Given the description of an element on the screen output the (x, y) to click on. 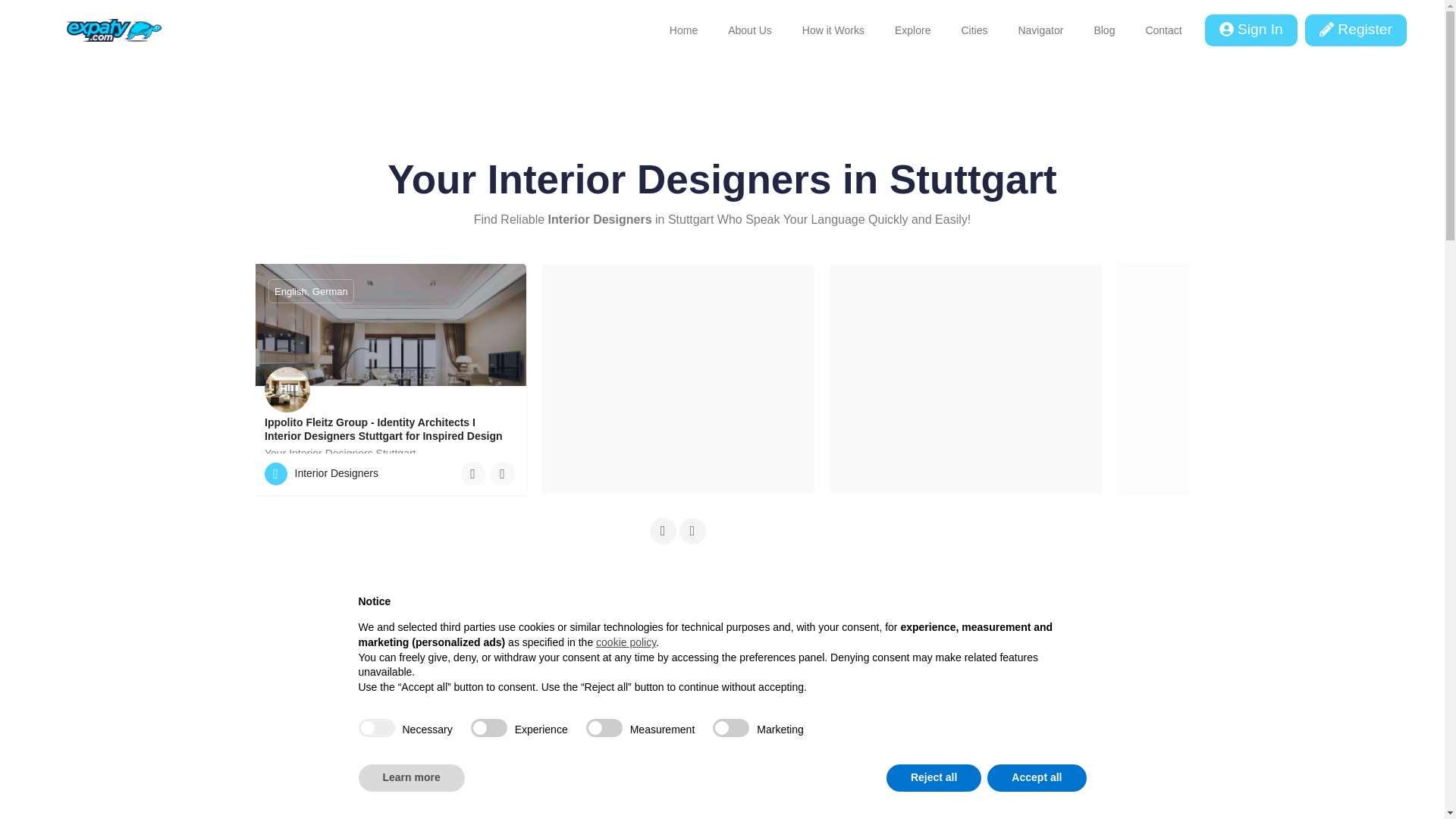
false (731, 728)
Navigator (1040, 30)
About Us (750, 30)
How it Works (833, 30)
Cities (973, 30)
Contact (1162, 30)
Explore (911, 30)
Blog (1103, 30)
false (604, 728)
false (488, 728)
Home (683, 30)
true (376, 728)
